Given the description of an element on the screen output the (x, y) to click on. 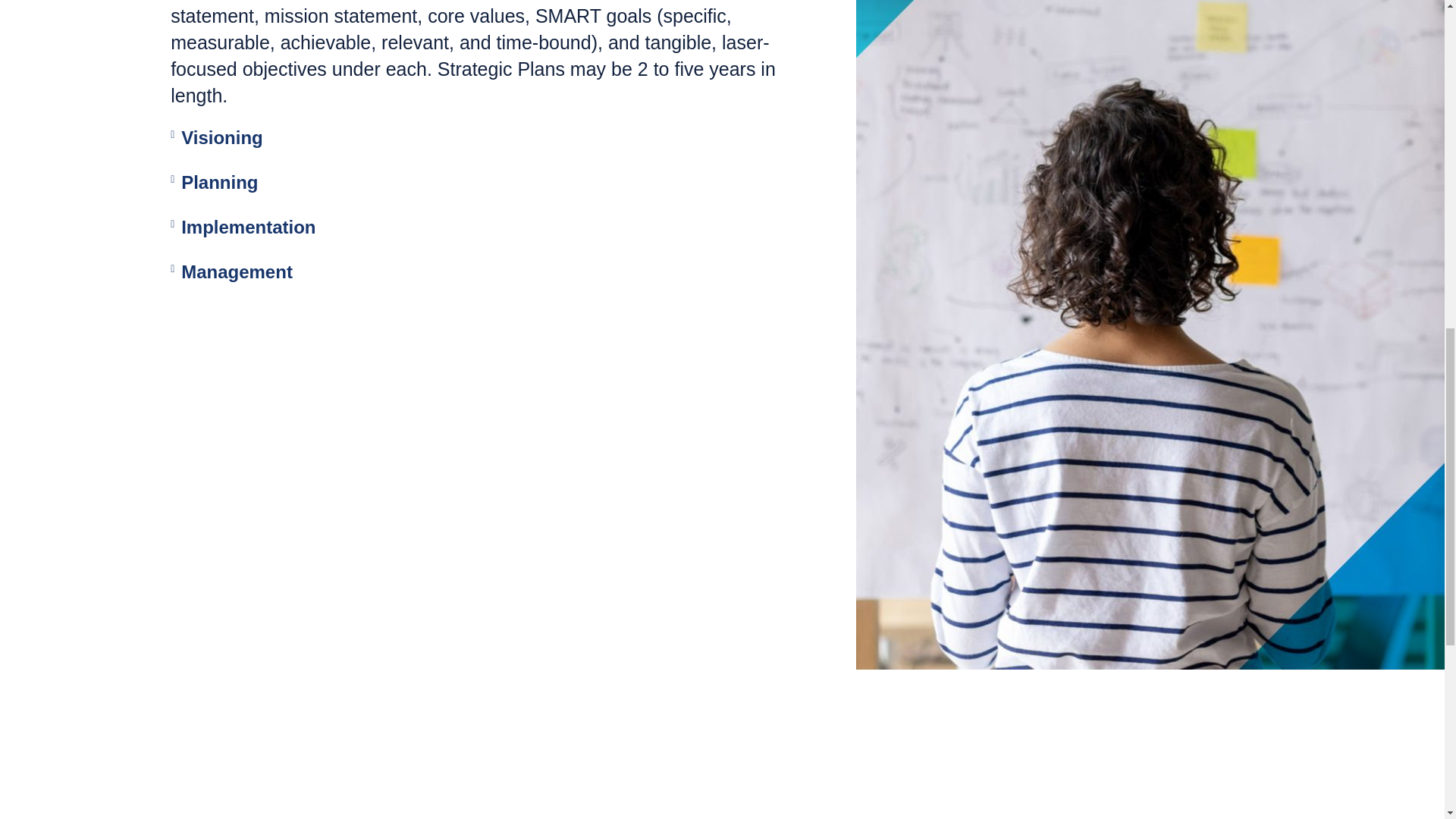
Visioning (221, 137)
Management (236, 271)
Implementation (247, 227)
Planning (218, 181)
